Given the description of an element on the screen output the (x, y) to click on. 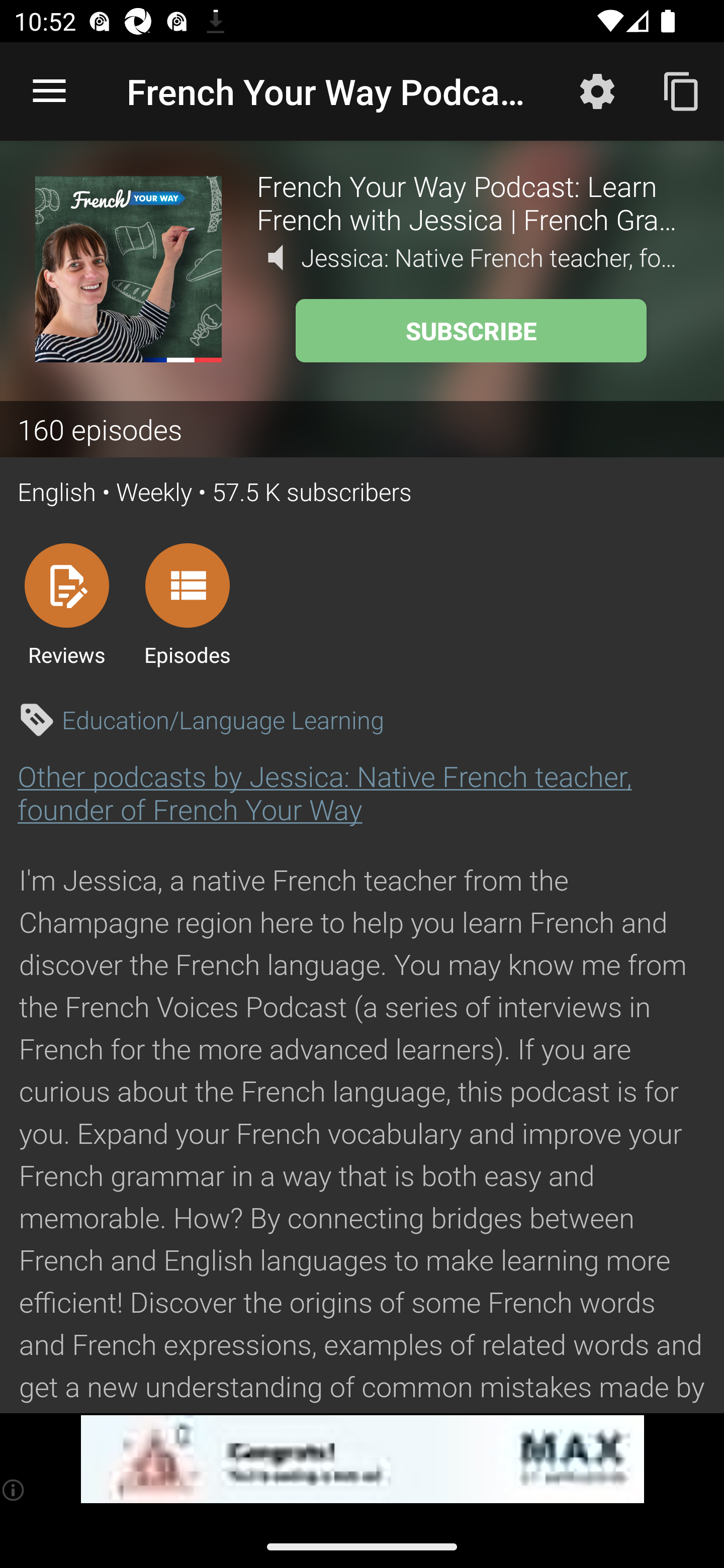
Open navigation sidebar (49, 91)
Settings (597, 90)
Copy feed url to clipboard (681, 90)
SUBSCRIBE (470, 330)
Reviews (66, 604)
Episodes (187, 604)
app-monetization (362, 1459)
(i) (14, 1489)
